Given the description of an element on the screen output the (x, y) to click on. 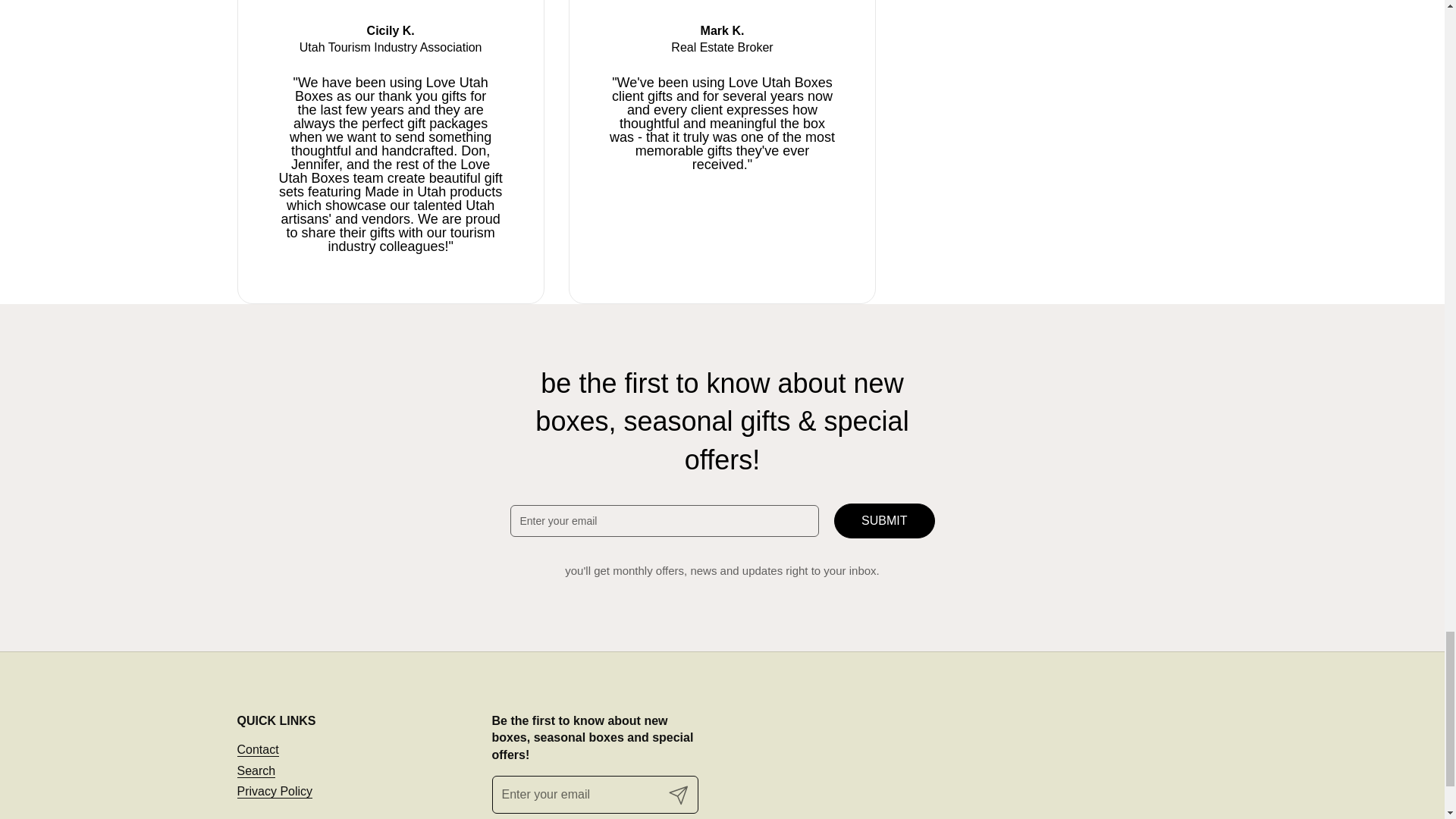
Search (255, 771)
Contact (256, 749)
SUBMIT (884, 520)
